Given the description of an element on the screen output the (x, y) to click on. 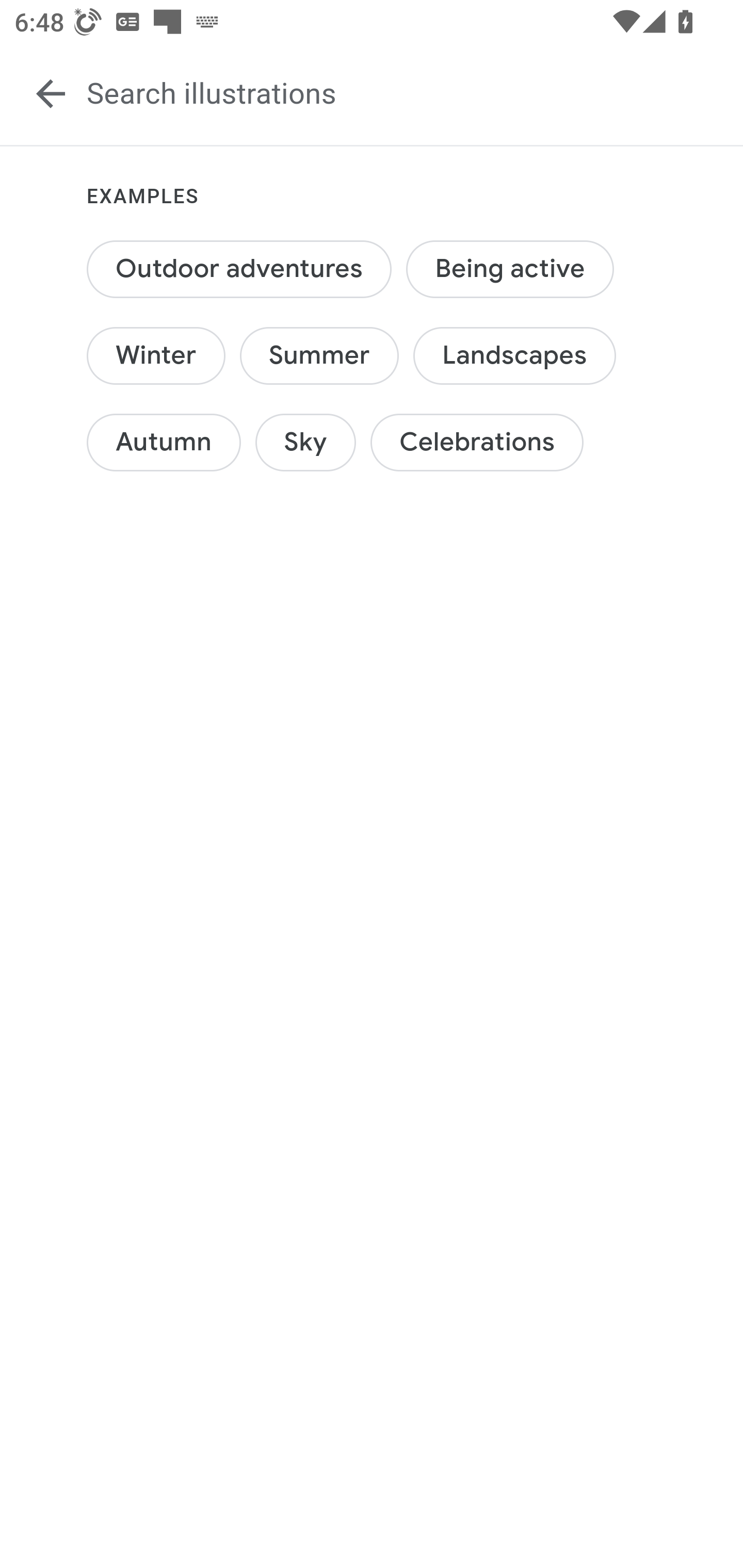
Back (50, 94)
Outdoor adventures (239, 268)
Being active (508, 268)
Winter (155, 354)
Summer (319, 354)
Landscapes (514, 354)
Autumn (164, 441)
Sky (305, 441)
Celebrations (477, 441)
